Given the description of an element on the screen output the (x, y) to click on. 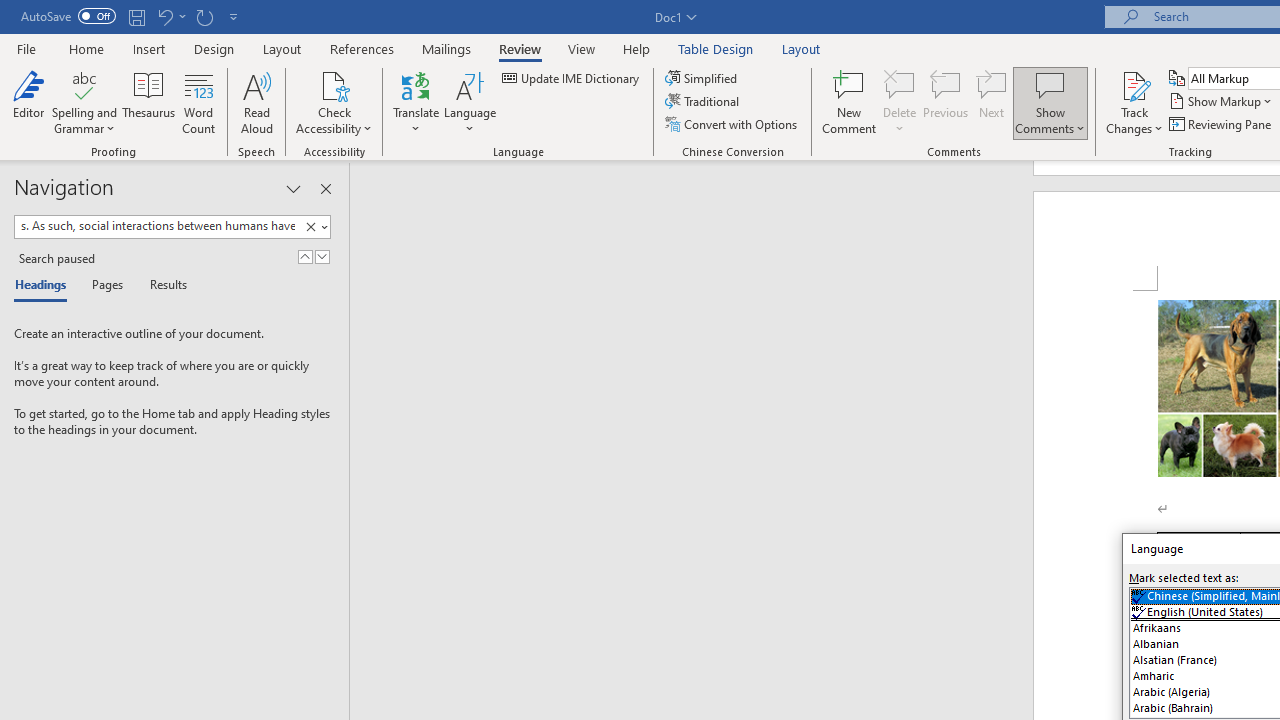
Next (991, 102)
Reviewing Pane (1221, 124)
Undo Style (170, 15)
Check Accessibility (334, 84)
Update IME Dictionary... (572, 78)
Language (470, 102)
Delete (900, 84)
Check Accessibility (334, 102)
Next Result (322, 256)
Convert with Options... (732, 124)
